Given the description of an element on the screen output the (x, y) to click on. 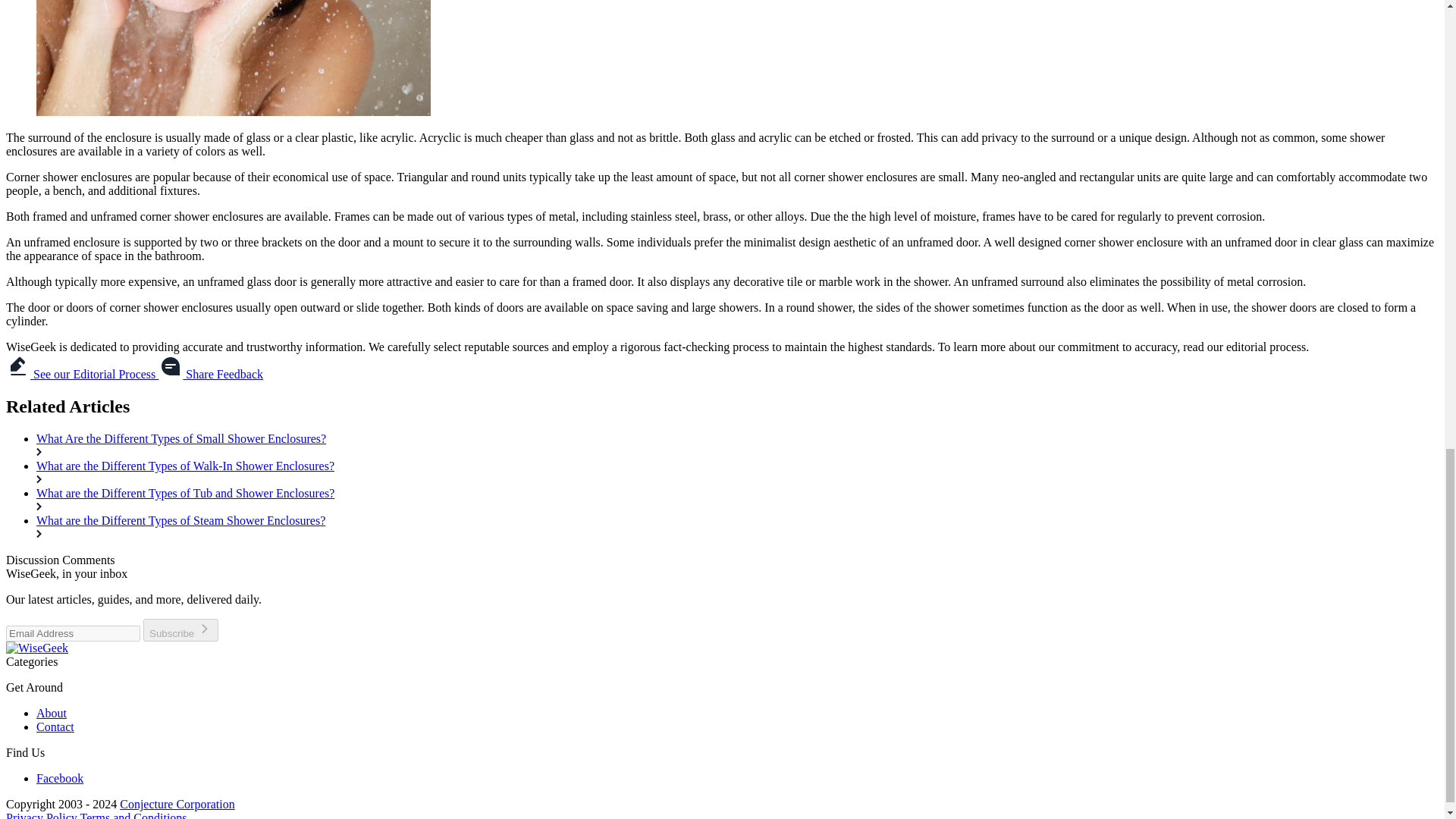
Contact (55, 726)
See our Editorial Process (81, 373)
Share Feedback (210, 373)
Subscribe (180, 630)
About (51, 712)
Conjecture Corporation (176, 803)
Facebook (59, 778)
